Given the description of an element on the screen output the (x, y) to click on. 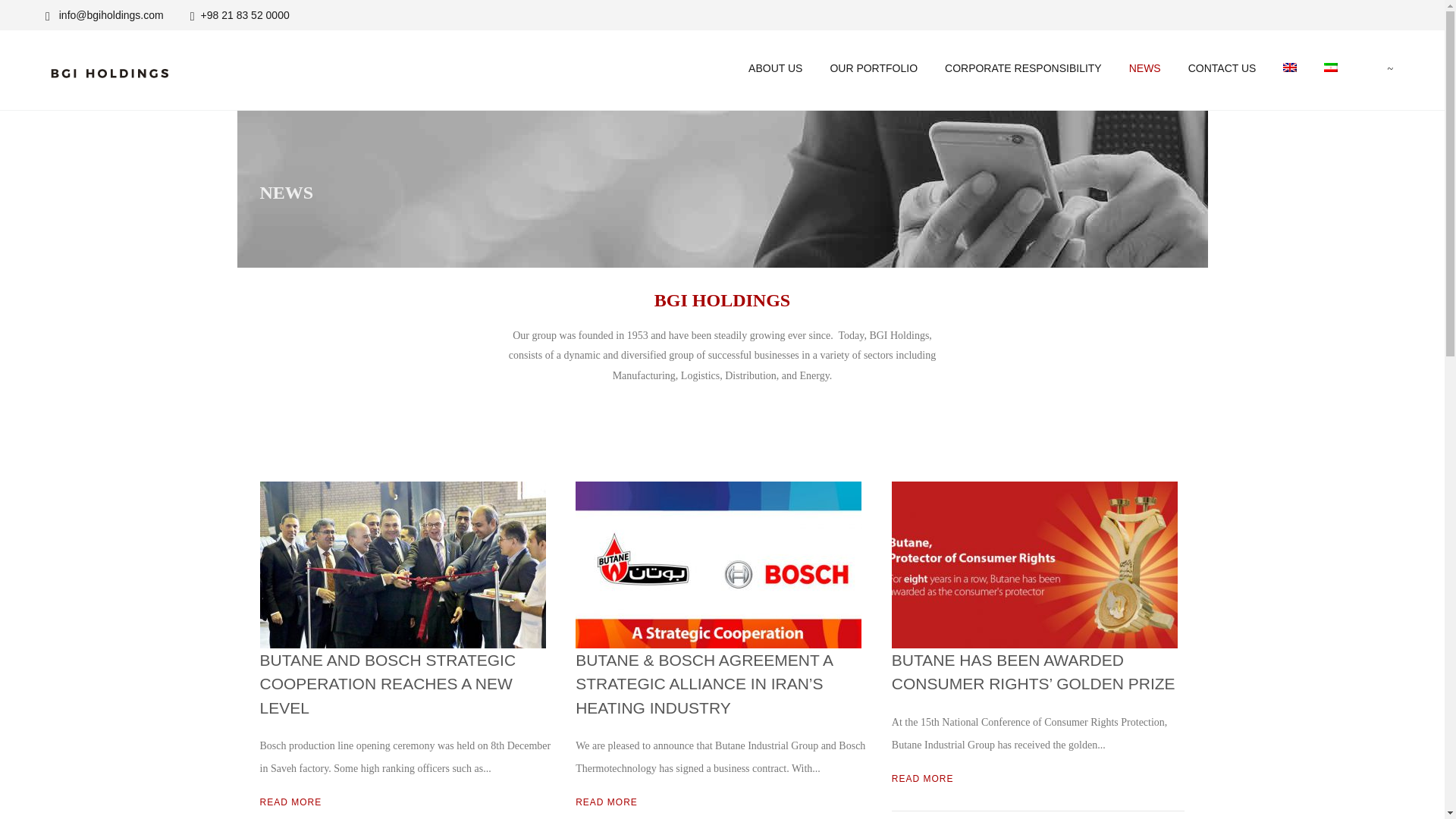
READ MORE (922, 778)
CORPORATE RESPONSIBILITY (1023, 68)
READ MORE (606, 801)
READ MORE (290, 801)
OUR PORTFOLIO (873, 68)
ABOUT US (775, 68)
CONTACT US (1221, 68)
BUTANE AND BOSCH STRATEGIC COOPERATION REACHES A NEW LEVEL (387, 683)
